Given the description of an element on the screen output the (x, y) to click on. 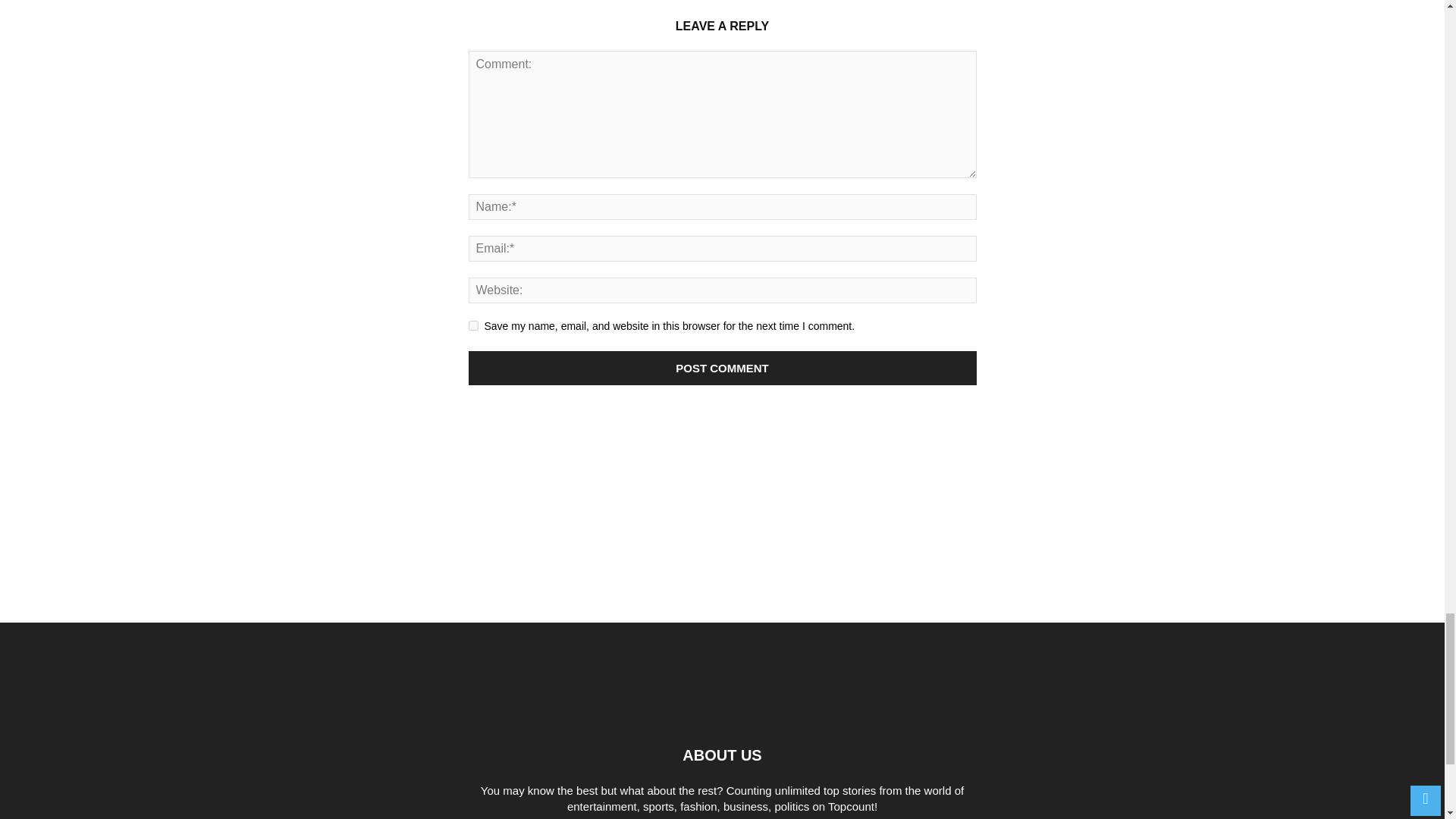
yes (473, 325)
Post Comment (722, 367)
